Given the description of an element on the screen output the (x, y) to click on. 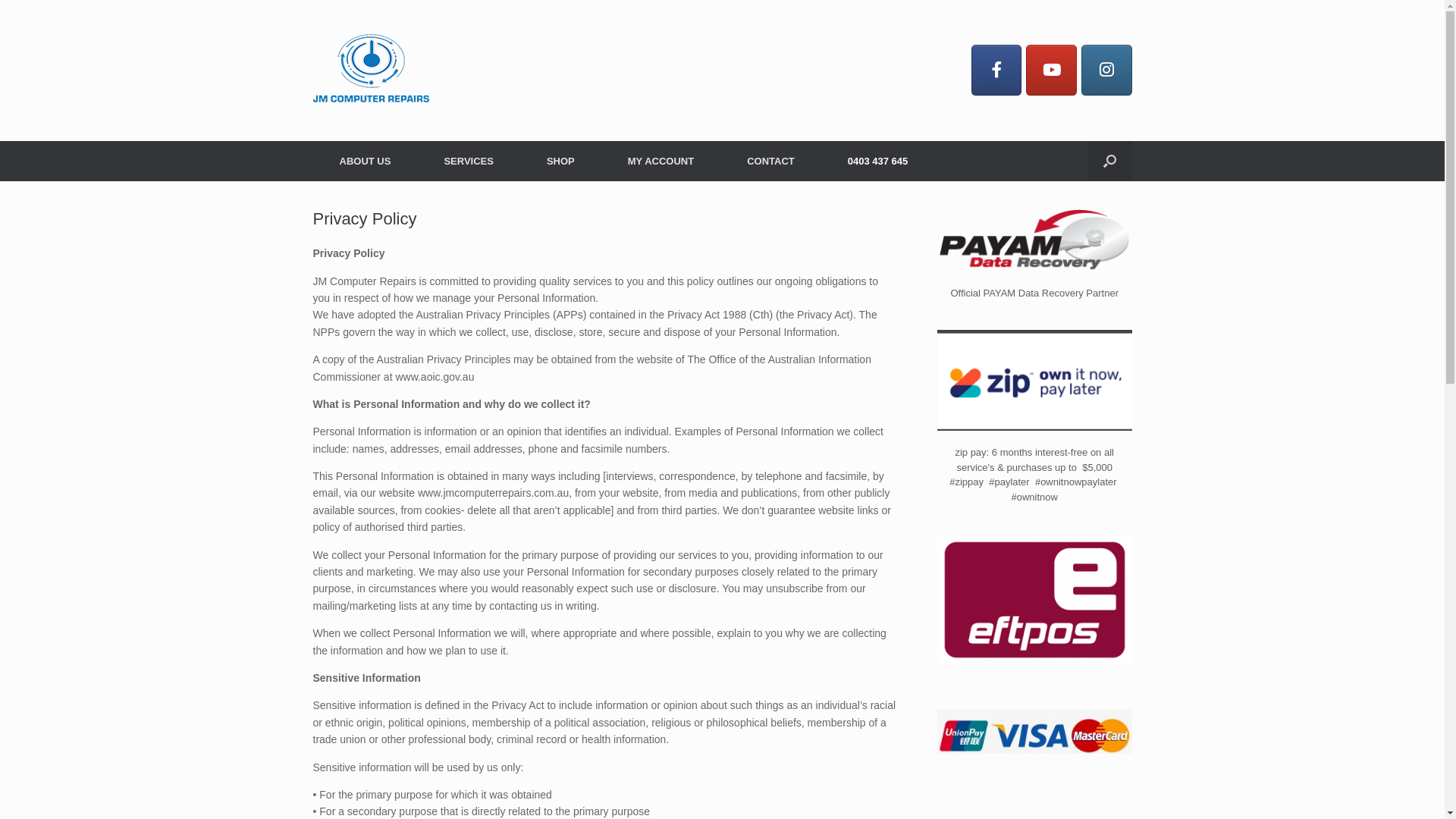
JM Computer Repairs on Youtube Element type: hover (1051, 69)
SERVICES Element type: text (468, 161)
MY ACCOUNT Element type: text (660, 161)
JM Computer Repairs on Facebook Element type: hover (996, 69)
ABOUT US Element type: text (364, 161)
CONTACT Element type: text (770, 161)
0403 437 645 Element type: text (878, 161)
JM Computer Repairs on Instagram Element type: hover (1106, 69)
SHOP Element type: text (560, 161)
